Given the description of an element on the screen output the (x, y) to click on. 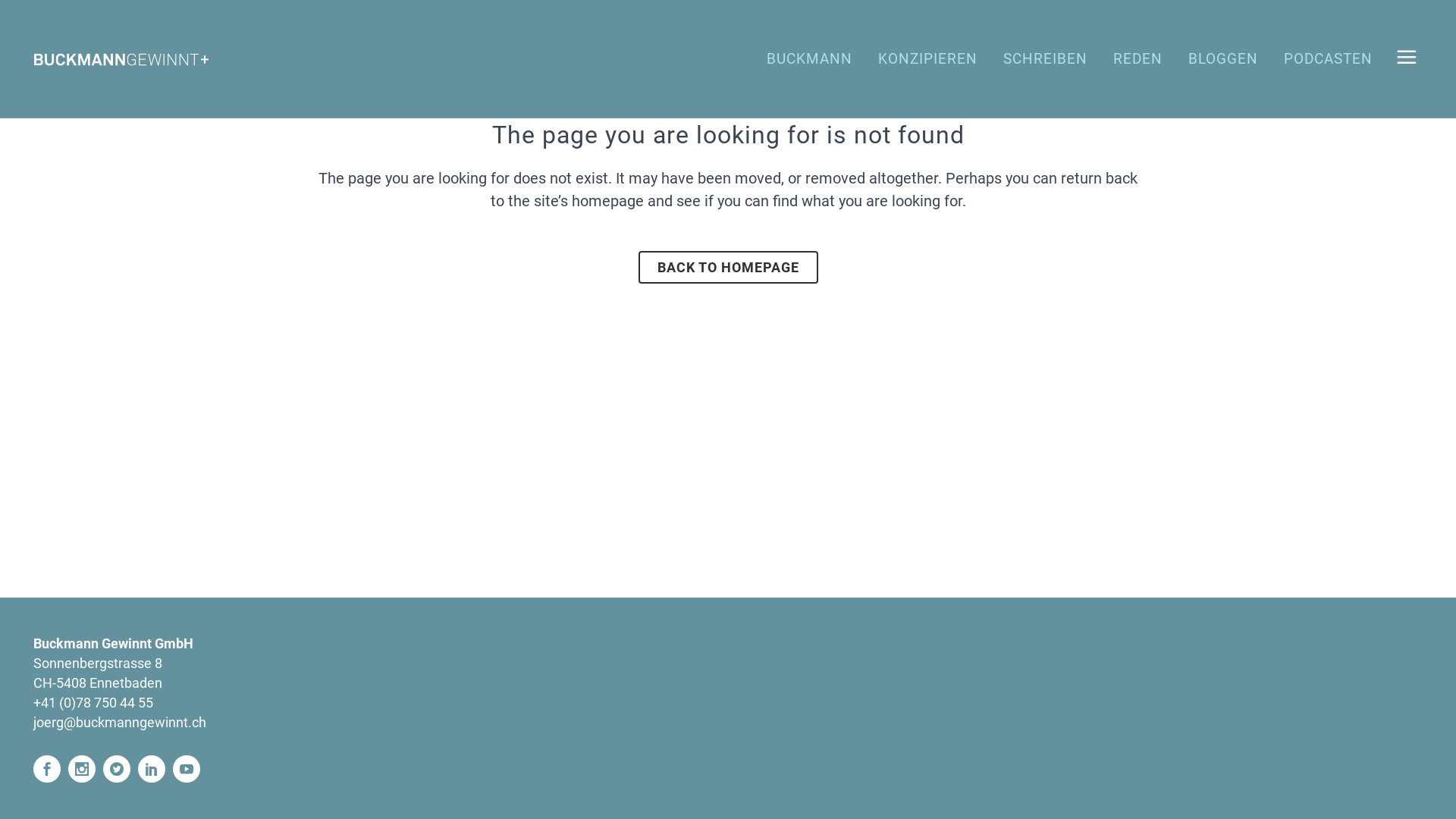
BUCKMANN Element type: text (809, 59)
KONZIPIEREN Element type: text (927, 59)
BACK TO HOMEPAGE Element type: text (728, 267)
REDEN Element type: text (1137, 59)
BLOGGEN Element type: text (1222, 59)
SCHREIBEN Element type: text (1045, 59)
PODCASTEN Element type: text (1327, 59)
joerg@buckmanngewinnt.ch Element type: text (119, 722)
